Given the description of an element on the screen output the (x, y) to click on. 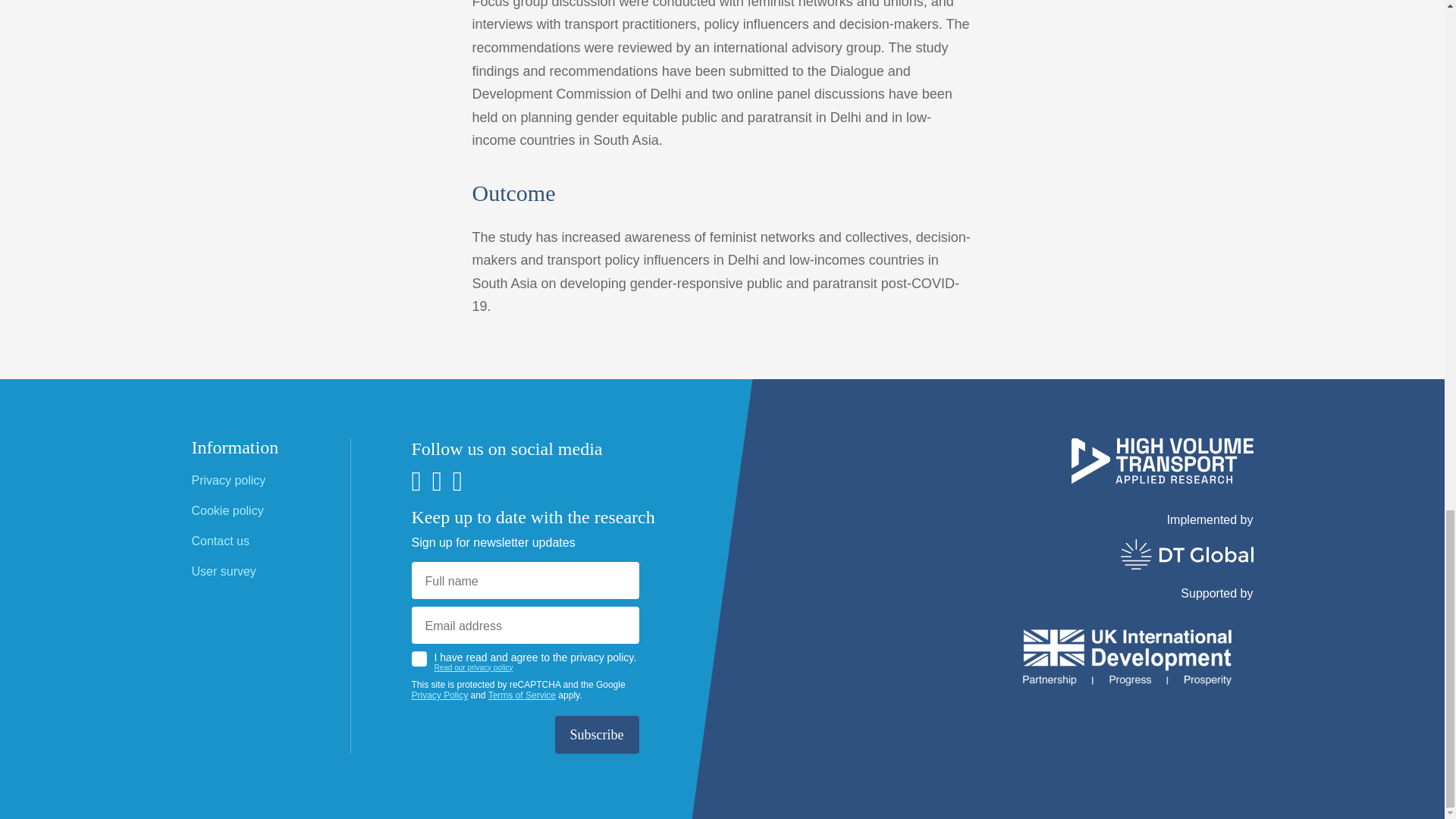
Subscribe (596, 734)
